Given the description of an element on the screen output the (x, y) to click on. 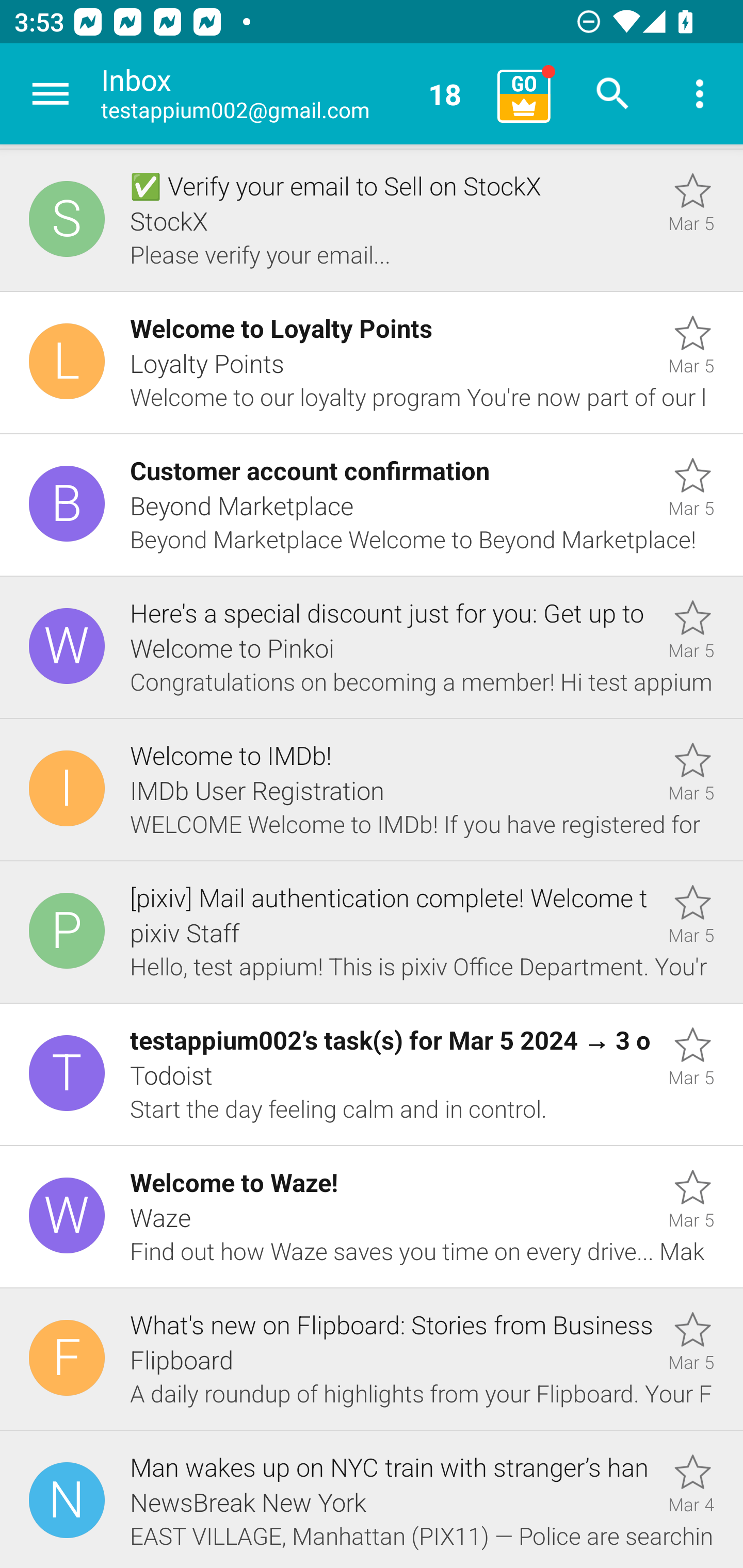
Navigate up (50, 93)
Inbox testappium002@gmail.com 18 (291, 93)
Search (612, 93)
More options (699, 93)
